Given the description of an element on the screen output the (x, y) to click on. 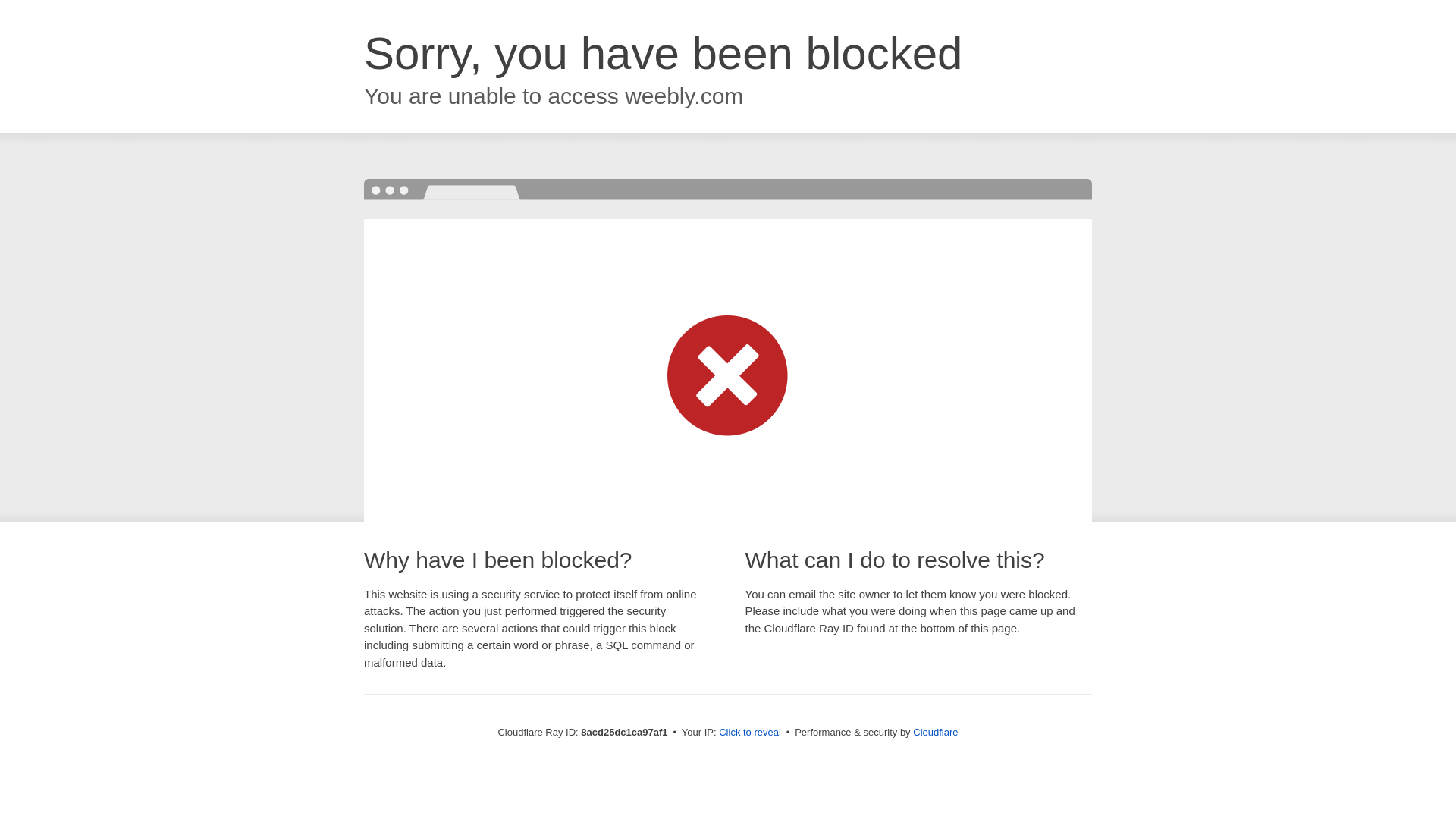
Cloudflare (935, 731)
Click to reveal (749, 732)
